Given the description of an element on the screen output the (x, y) to click on. 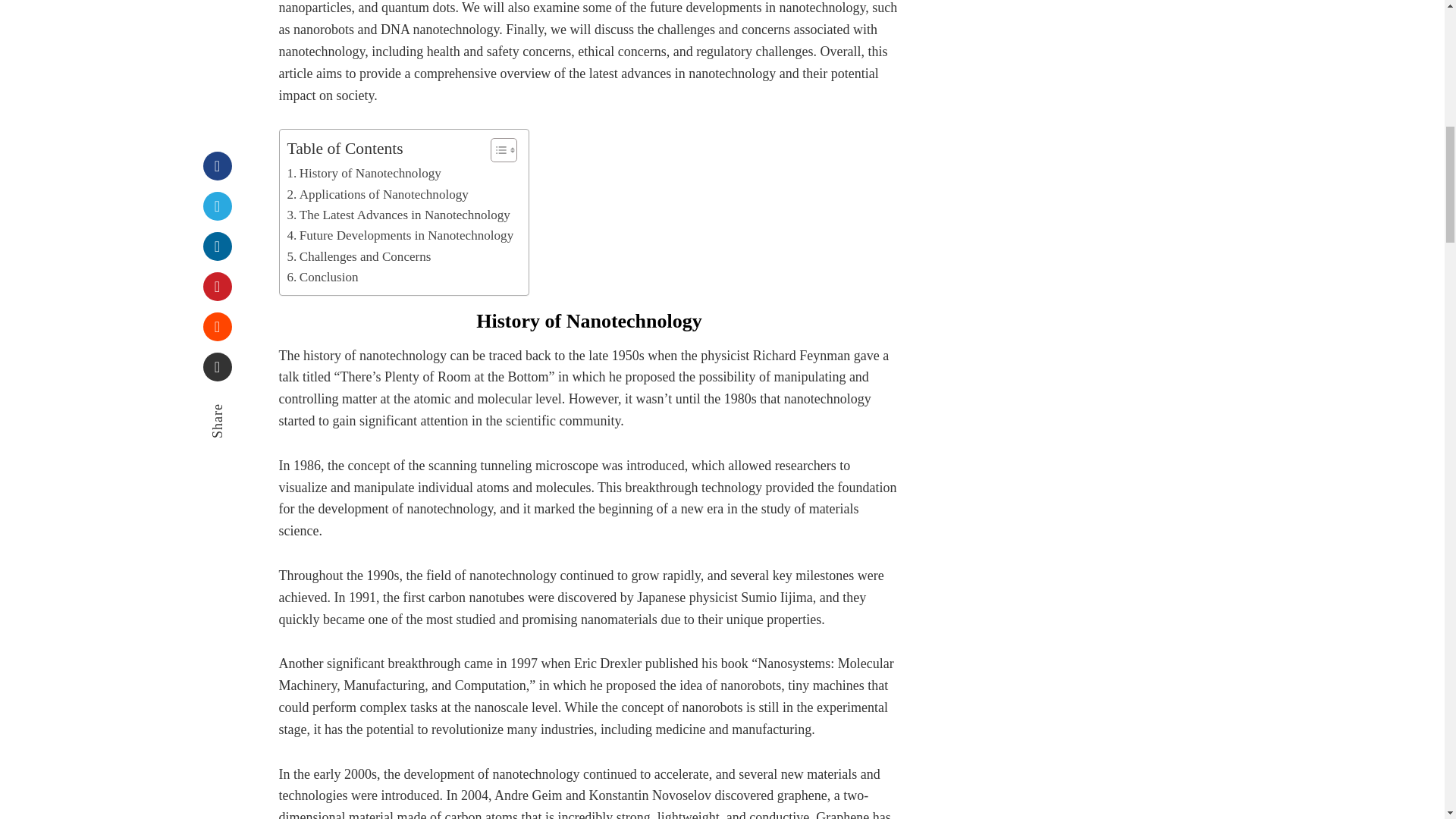
The Latest Advances in Nanotechnology (397, 214)
Conclusion (322, 276)
Applications of Nanotechnology (376, 194)
Challenges and Concerns (358, 256)
The Latest Advances in Nanotechnology (397, 214)
Conclusion (322, 276)
Applications of Nanotechnology (376, 194)
Challenges and Concerns (358, 256)
History of Nanotechnology (363, 172)
History of Nanotechnology (363, 172)
